Given the description of an element on the screen output the (x, y) to click on. 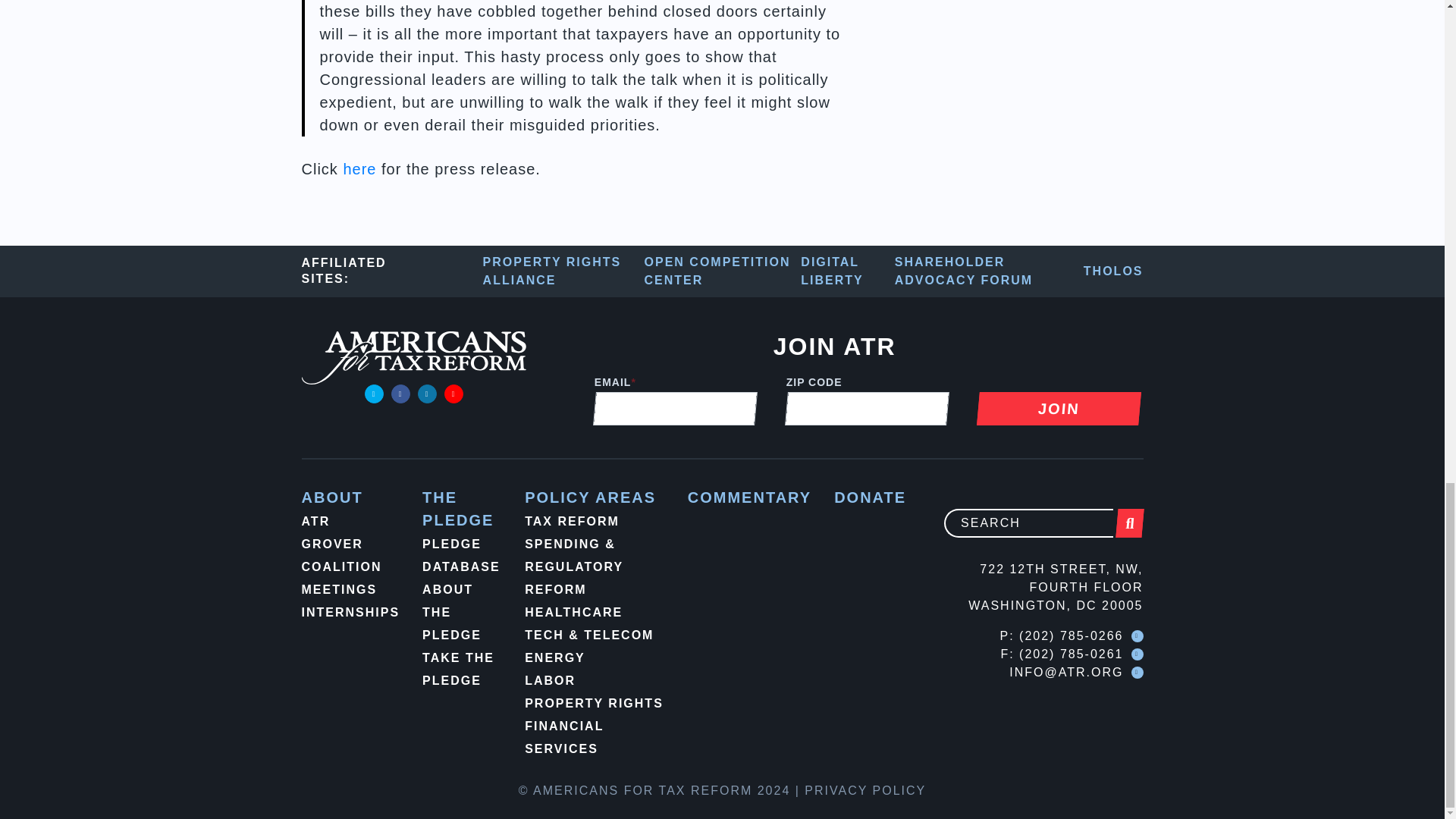
here (358, 168)
PROPERTY RIGHTS ALLIANCE (564, 271)
OPEN COMPETITION CENTER (723, 271)
Join (1057, 408)
